Given the description of an element on the screen output the (x, y) to click on. 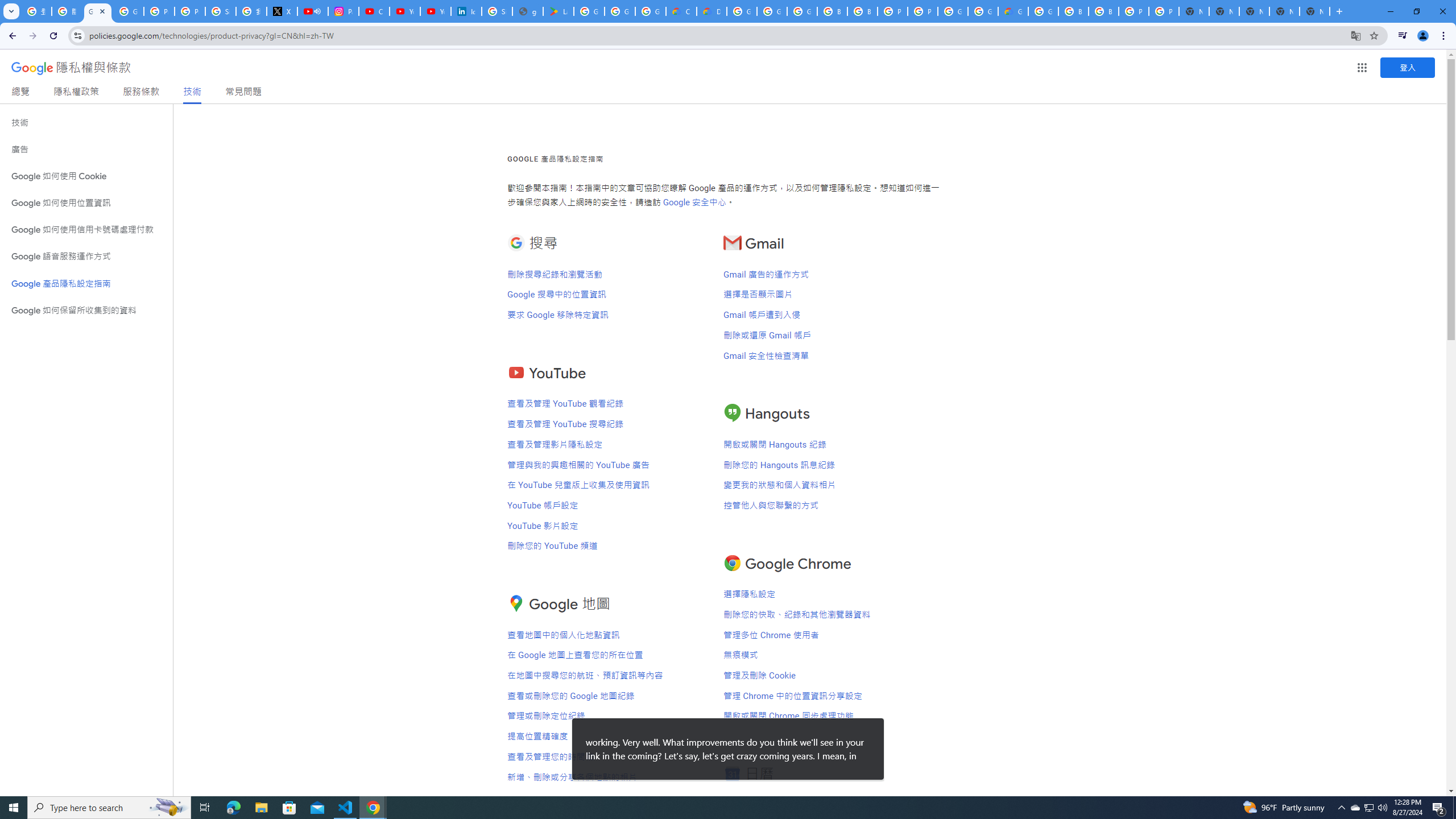
Google Workspace - Specific Terms (650, 11)
Privacy Help Center - Policies Help (189, 11)
Google Cloud Platform (982, 11)
X (282, 11)
